Given the description of an element on the screen output the (x, y) to click on. 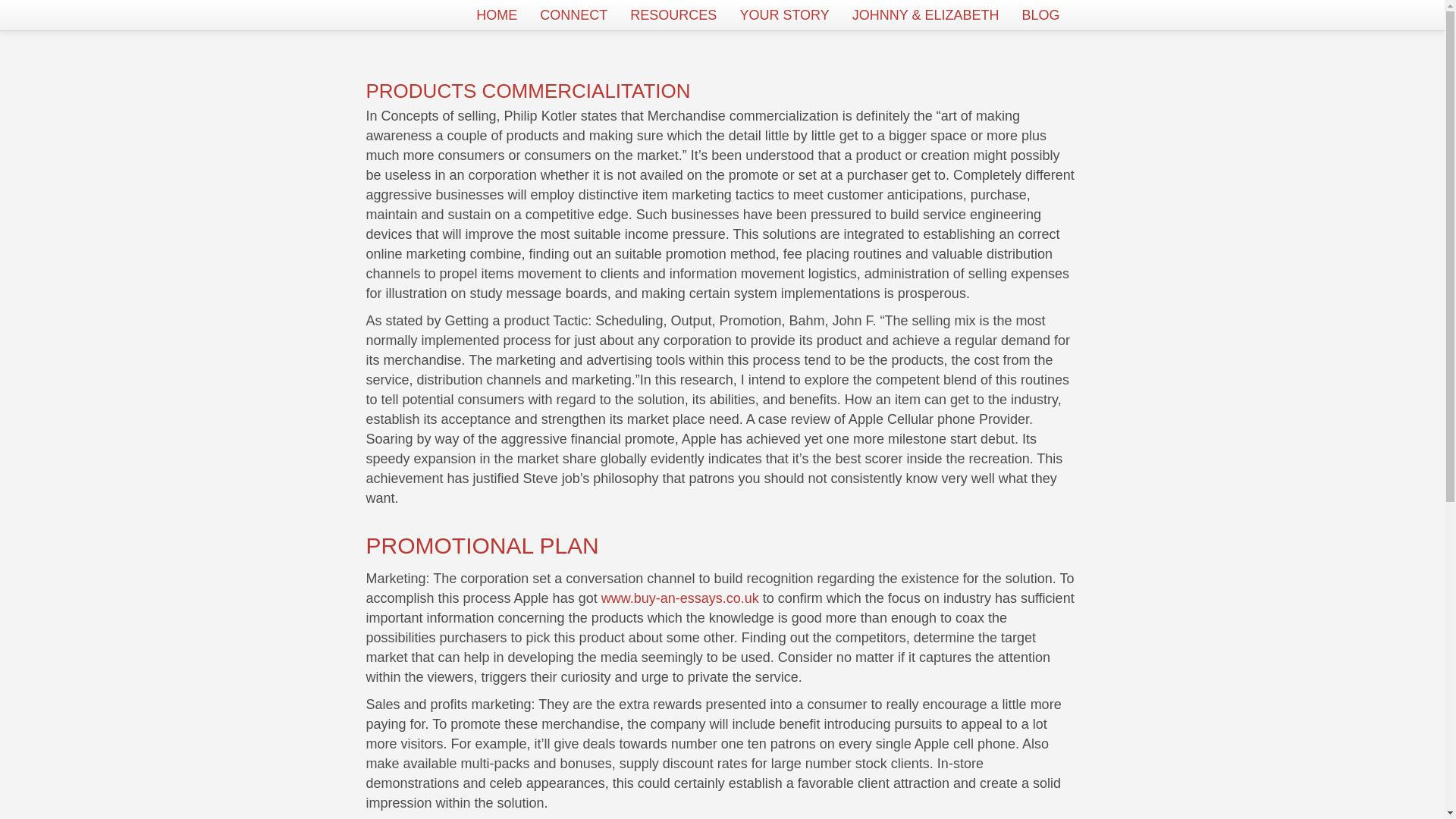
HOME (496, 15)
CONNECT (573, 15)
RESOURCES (673, 15)
YOUR STORY (784, 15)
BLOG (1040, 15)
www.buy-an-essays.co.uk (679, 598)
